Given the description of an element on the screen output the (x, y) to click on. 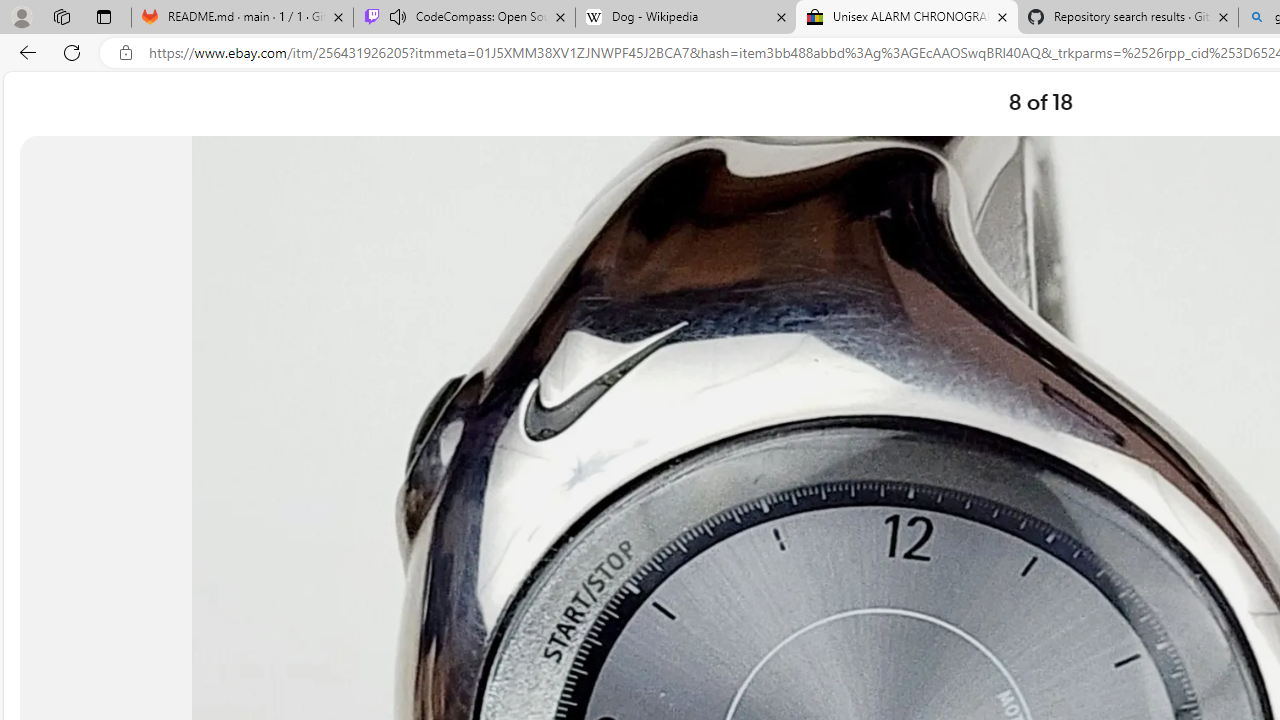
Dog - Wikipedia (686, 17)
Mute tab (397, 16)
